Given the description of an element on the screen output the (x, y) to click on. 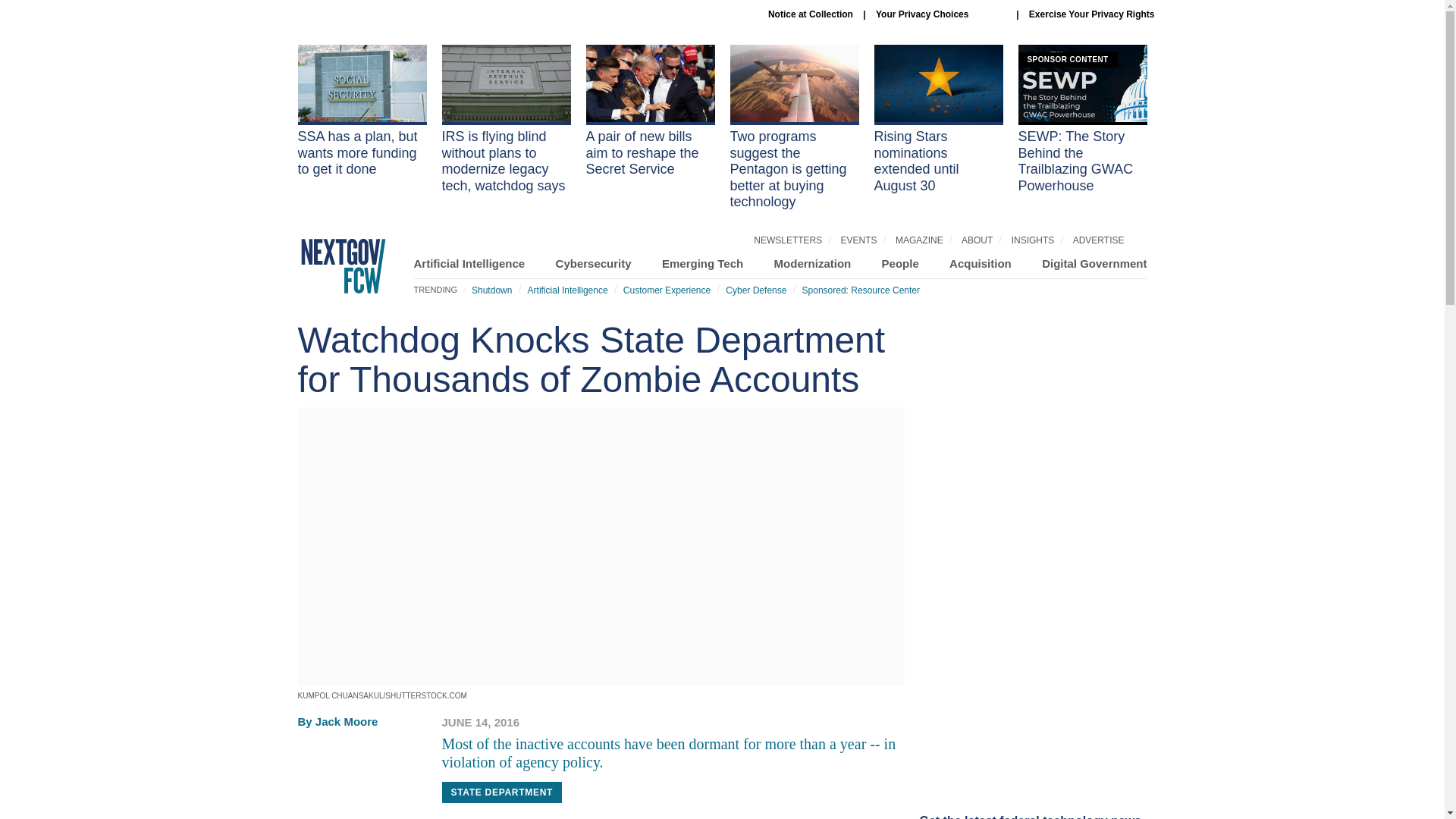
Artificial Intelligence (567, 290)
Digital Government (1094, 263)
Modernization (812, 263)
SSA has a plan, but wants more funding to get it done (361, 111)
Emerging Tech (702, 263)
Acquisition (980, 263)
ABOUT (976, 240)
NEWSLETTERS (788, 240)
MAGAZINE (919, 240)
People (900, 263)
